Given the description of an element on the screen output the (x, y) to click on. 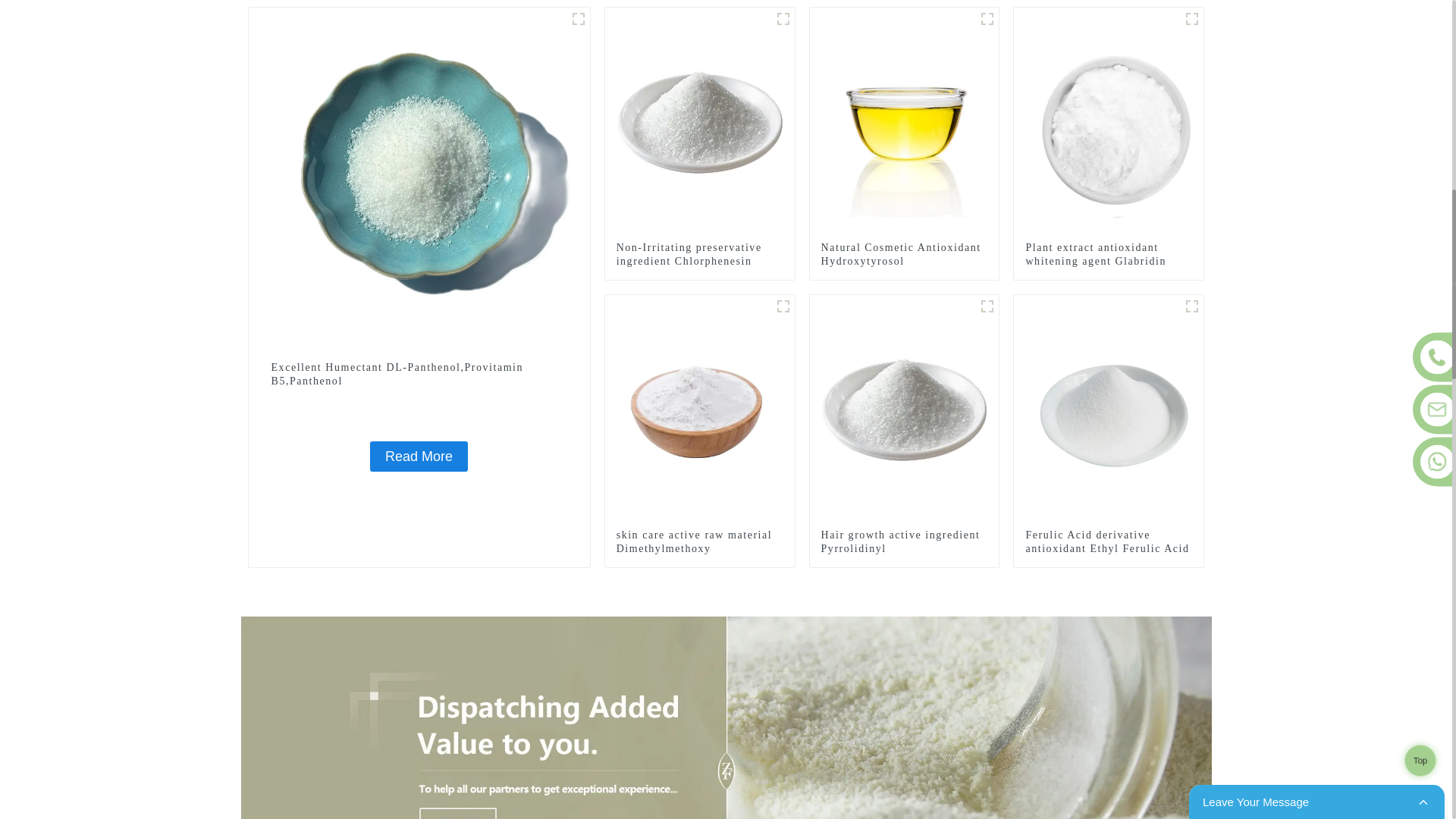
Excellent Humectant DL-Panthenol,Provitamin B5,Panthenol (418, 177)
Excellent Humectant DL-Panthenol,Provitamin B5,Panthenol (418, 374)
Non-Irritating preservative ingredient Chlorphenesin (699, 254)
Non-Irritating preservative ingredient Chlorphenesin (699, 121)
Natural Cosmetic Antioxidant Hydroxytyrosol (904, 254)
Read More (418, 456)
Excellent Humectant DL-Panthenol,Provitamin B5,Panthenol (418, 456)
Natural Cosmetic Antioxidant Hydroxytyrosol (904, 254)
Plant extract antioxidant whitening agent Glabridin (1108, 121)
skin care active raw material Dimethylmethoxy Chromanol,DMC (699, 408)
Plant extract antioxidant whitening agent Glabridin (1108, 254)
Natural Cosmetic Antioxidant Hydroxytyrosol (903, 121)
Non-Irritating preservative ingredient Chlorphenesin (699, 254)
Excellent Humectant DL-Panthenol,Provitamin B5,Panthenol (418, 374)
Plant extract antioxidant whitening agent Glabridin (1108, 254)
